Given the description of an element on the screen output the (x, y) to click on. 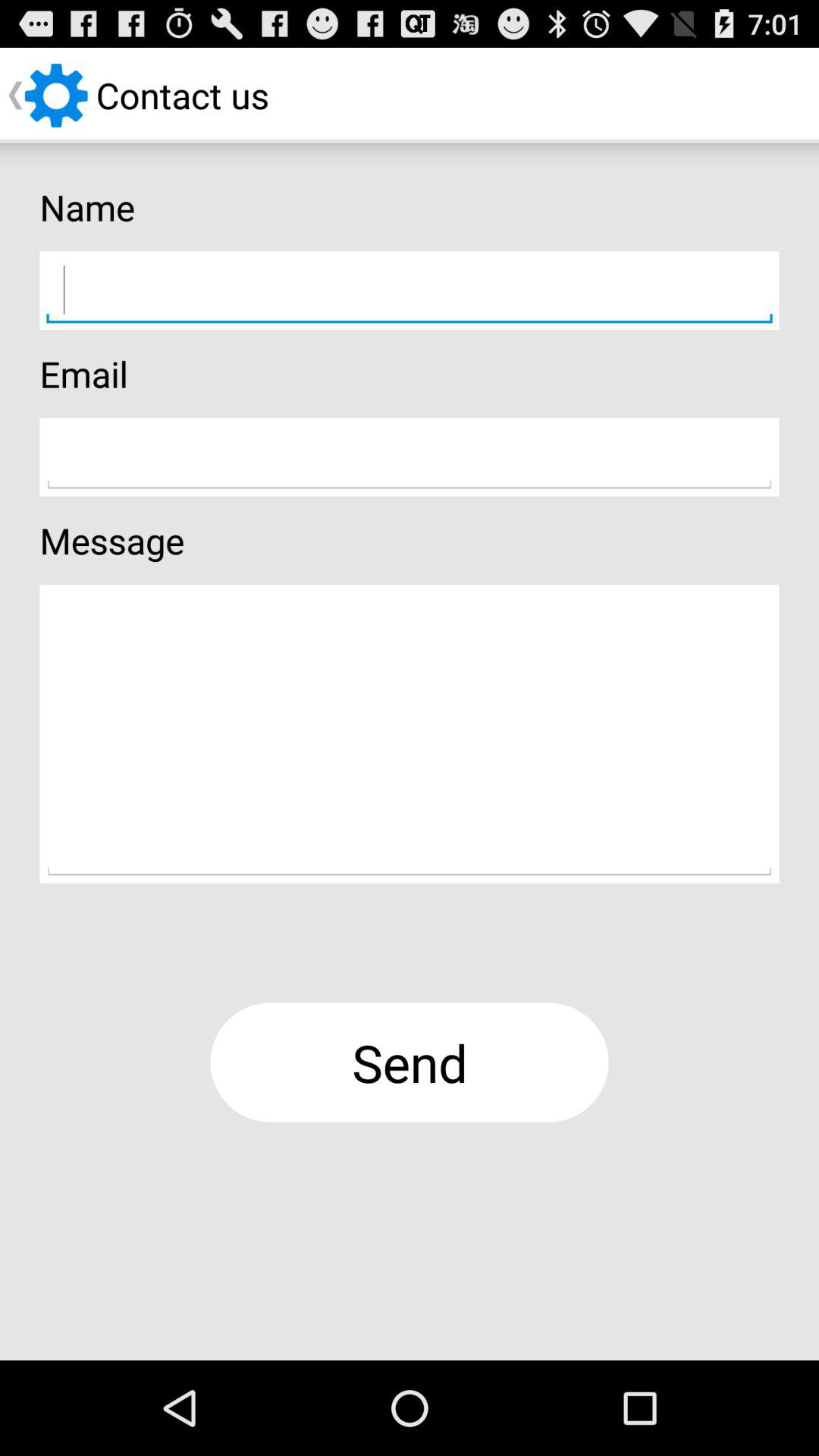
name button (409, 290)
